Given the description of an element on the screen output the (x, y) to click on. 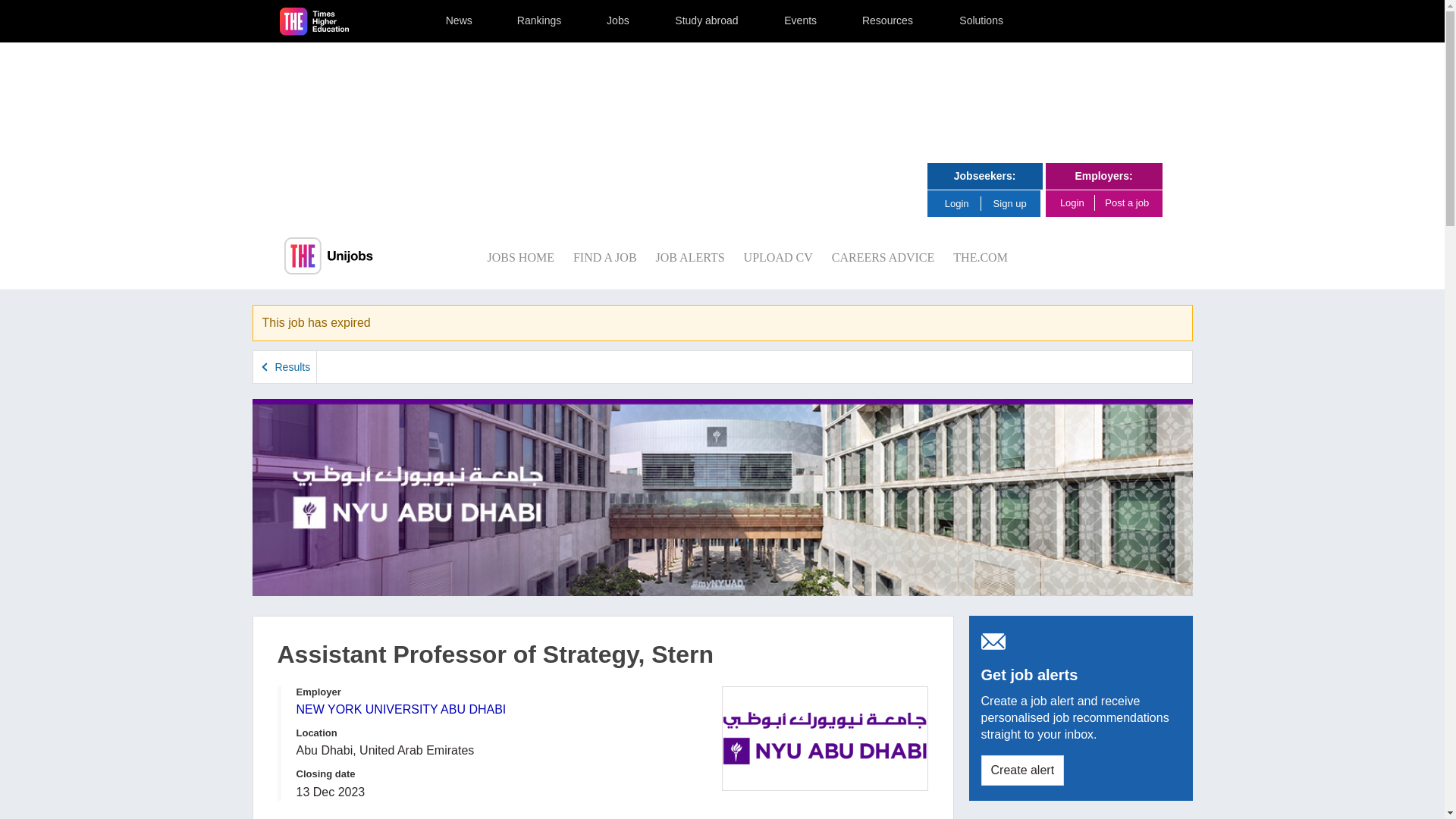
News (459, 21)
3rd party ad content (721, 102)
View more (318, 814)
THEunijobs (327, 255)
UPLOAD CV (778, 256)
FIND A JOB (605, 256)
Events (800, 21)
Login (961, 203)
JOB ALERTS (690, 256)
JOBS HOME (519, 256)
Sign up (1010, 203)
Jobs (617, 21)
Rankings (540, 21)
Results (285, 367)
Study abroad (705, 21)
